Given the description of an element on the screen output the (x, y) to click on. 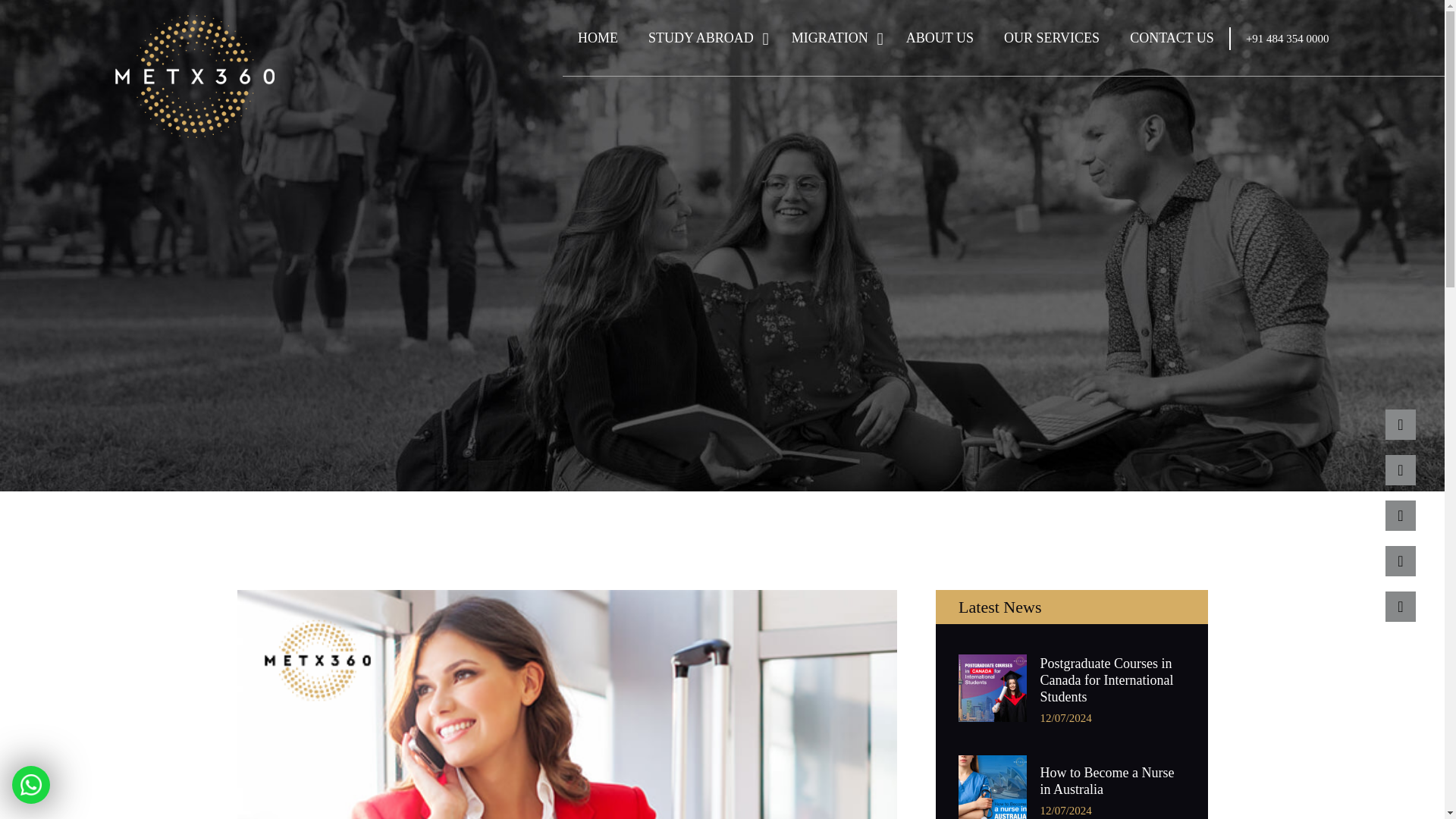
MIGRATION (833, 37)
How to Become a Nurse in Australia (1113, 780)
ABOUT US (939, 37)
CONTACT US (1171, 37)
Postgraduate Courses in Canada for International Students (1113, 680)
OUR SERVICES (1051, 37)
STUDY ABROAD (704, 37)
HOME (597, 37)
